Given the description of an element on the screen output the (x, y) to click on. 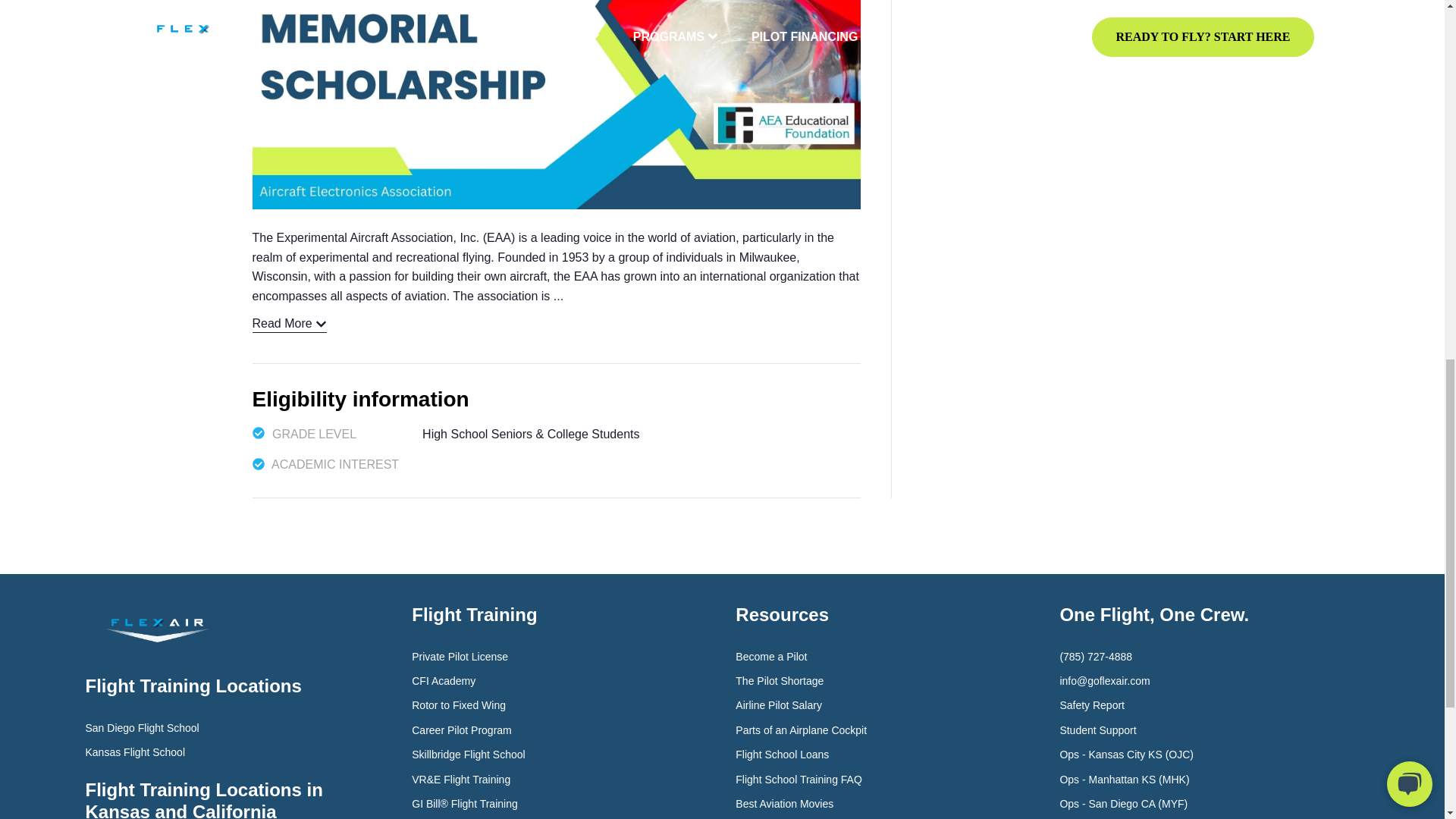
Kansas Flight School (134, 752)
Read More (288, 323)
San Diego Flight School (141, 727)
Flex Air (156, 630)
